Given the description of an element on the screen output the (x, y) to click on. 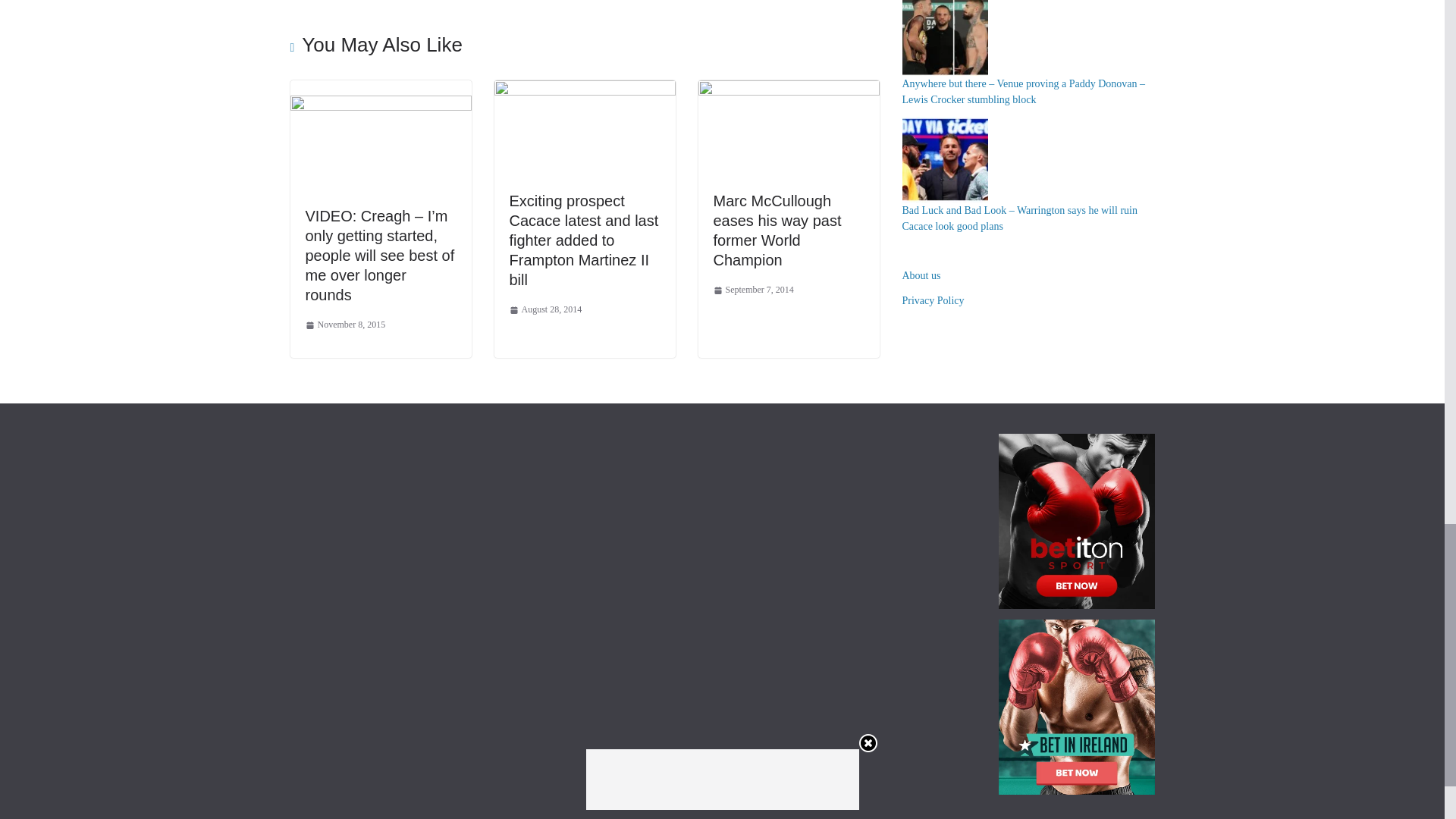
1:55 pm (753, 289)
8:41 pm (545, 310)
Marc McCullough eases his way past former World Champion (777, 230)
Marc McCullough eases his way past former World Champion (777, 230)
6:02 pm (344, 324)
November 8, 2015 (344, 324)
Marc McCullough eases his way past former World Champion (788, 90)
September 7, 2014 (753, 289)
August 28, 2014 (545, 310)
